Given the description of an element on the screen output the (x, y) to click on. 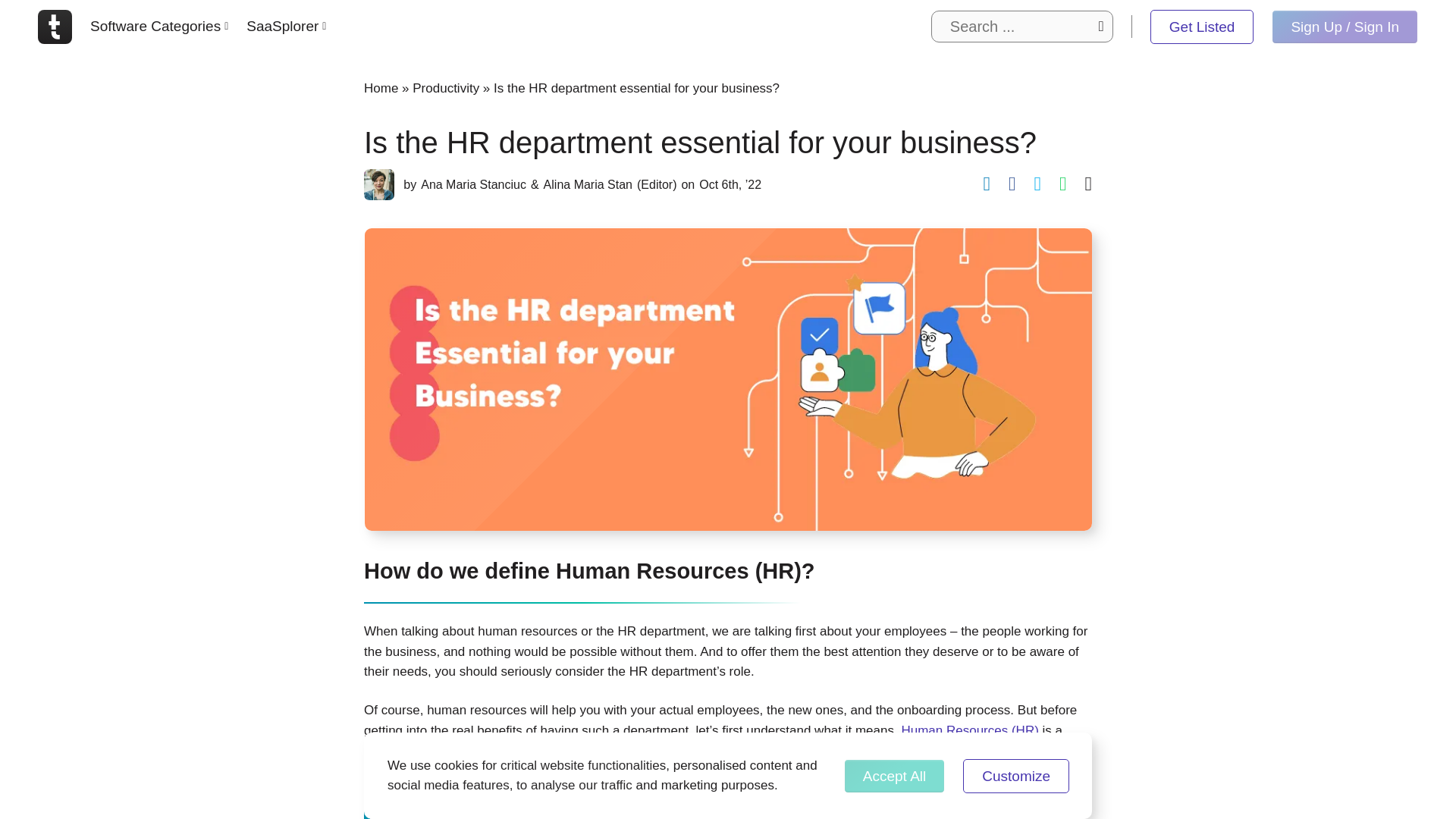
Ana Maria Stanciuc (379, 183)
Tekpon Favicon Logo (54, 26)
Get Listed (1201, 26)
Search ... (1022, 26)
Software Categories (159, 26)
